Given the description of an element on the screen output the (x, y) to click on. 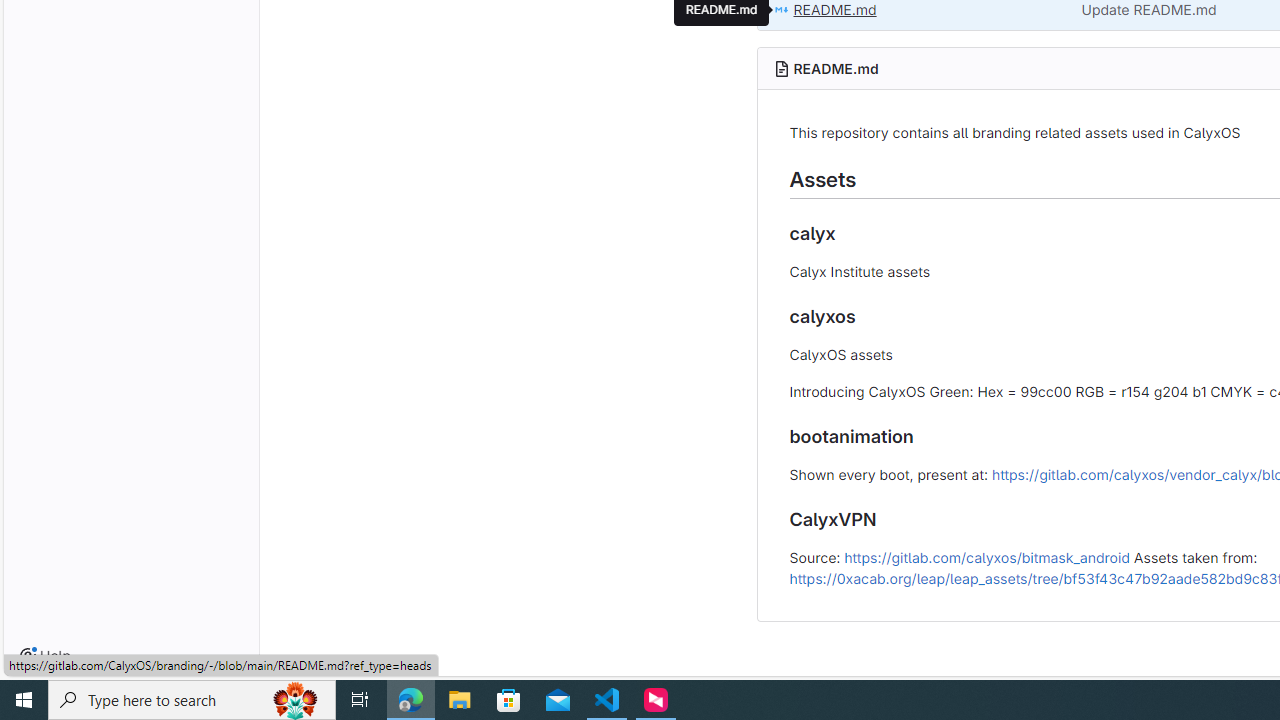
README.md (836, 68)
Help (45, 655)
https://gitlab.com/calyxos/bitmask_android (986, 556)
Class: s16 position-relative file-icon (781, 10)
